Given the description of an element on the screen output the (x, y) to click on. 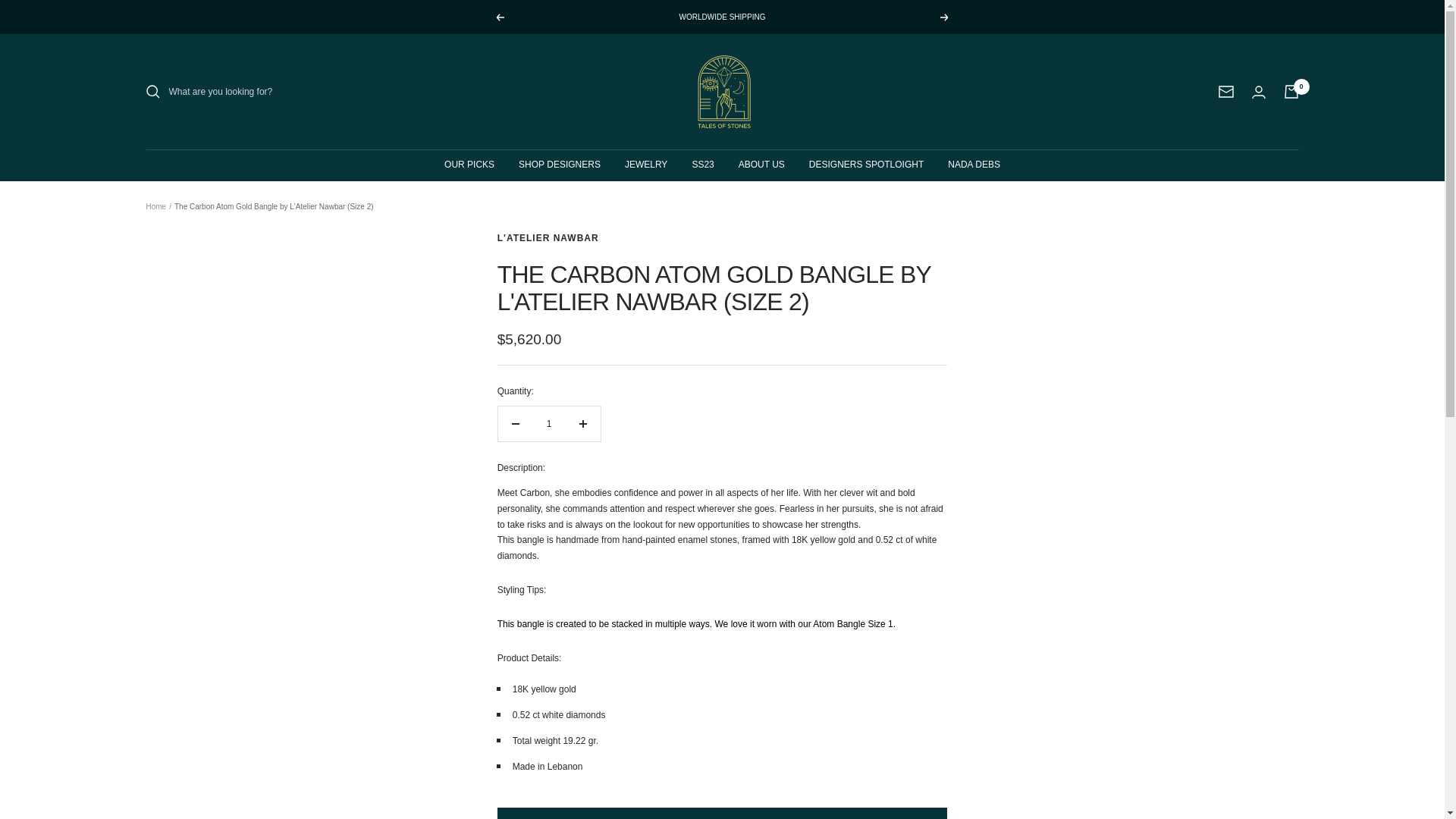
SS23 (702, 164)
OUR PICKS (469, 164)
Next (944, 17)
Home (155, 206)
JEWELRY (645, 164)
Increase quantity (582, 423)
Previous (499, 17)
SHOP DESIGNERS (558, 164)
Decrease quantity (514, 423)
ADD TO CART (722, 813)
